Given the description of an element on the screen output the (x, y) to click on. 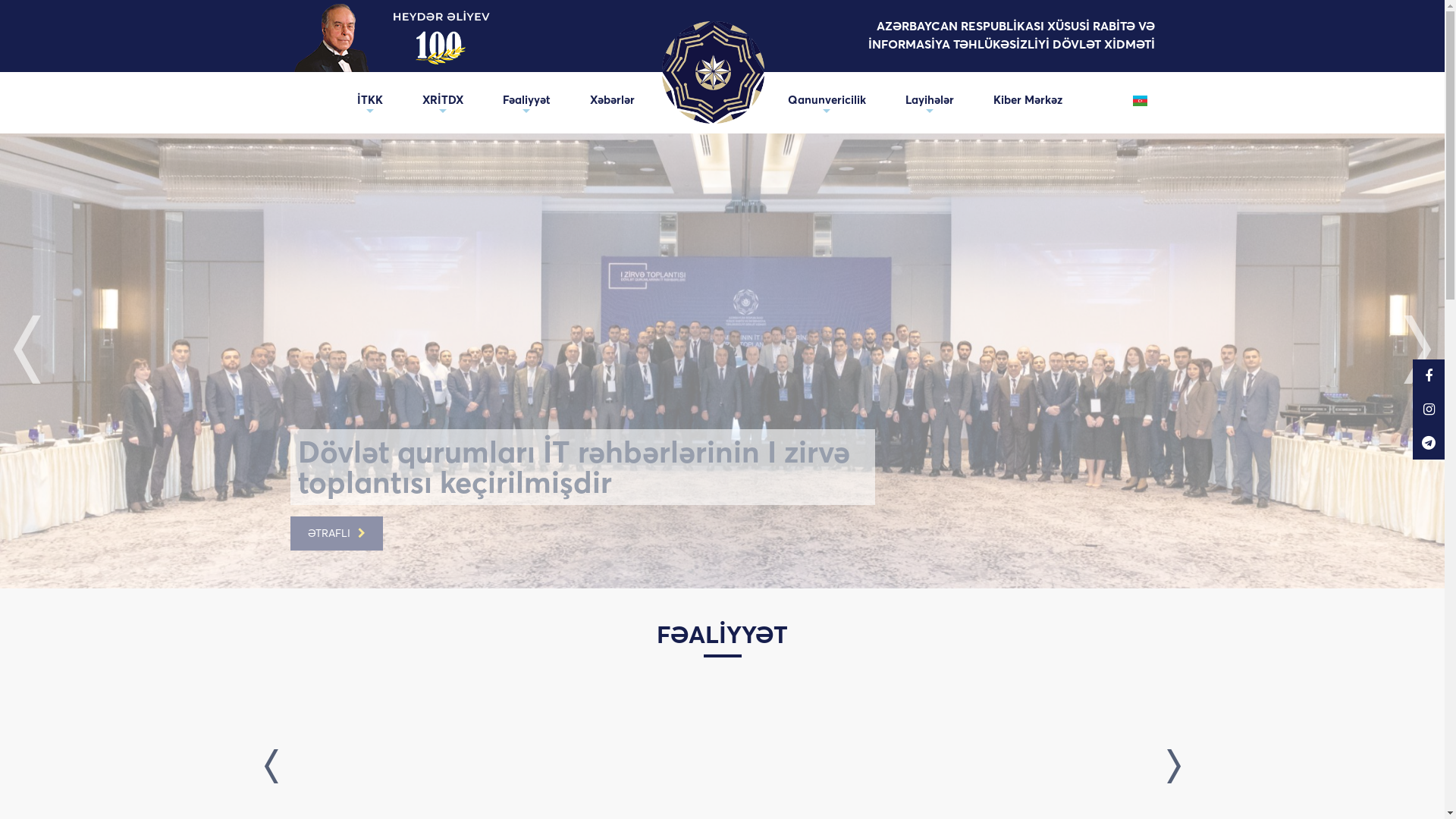
Qanunvericilik Element type: text (825, 100)
